Given the description of an element on the screen output the (x, y) to click on. 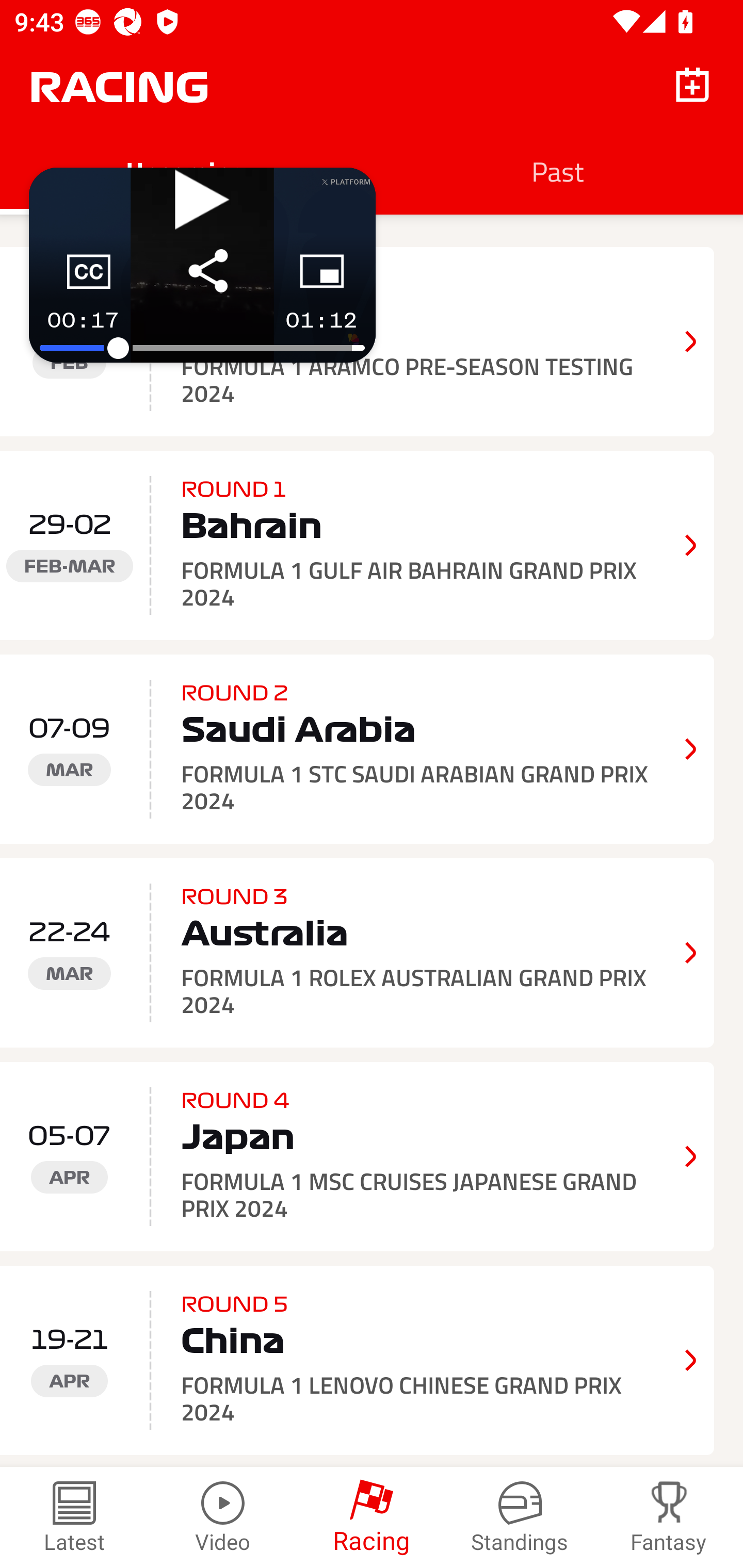
Past (557, 171)
Latest (74, 1517)
Video (222, 1517)
Standings (519, 1517)
Fantasy (668, 1517)
